Given the description of an element on the screen output the (x, y) to click on. 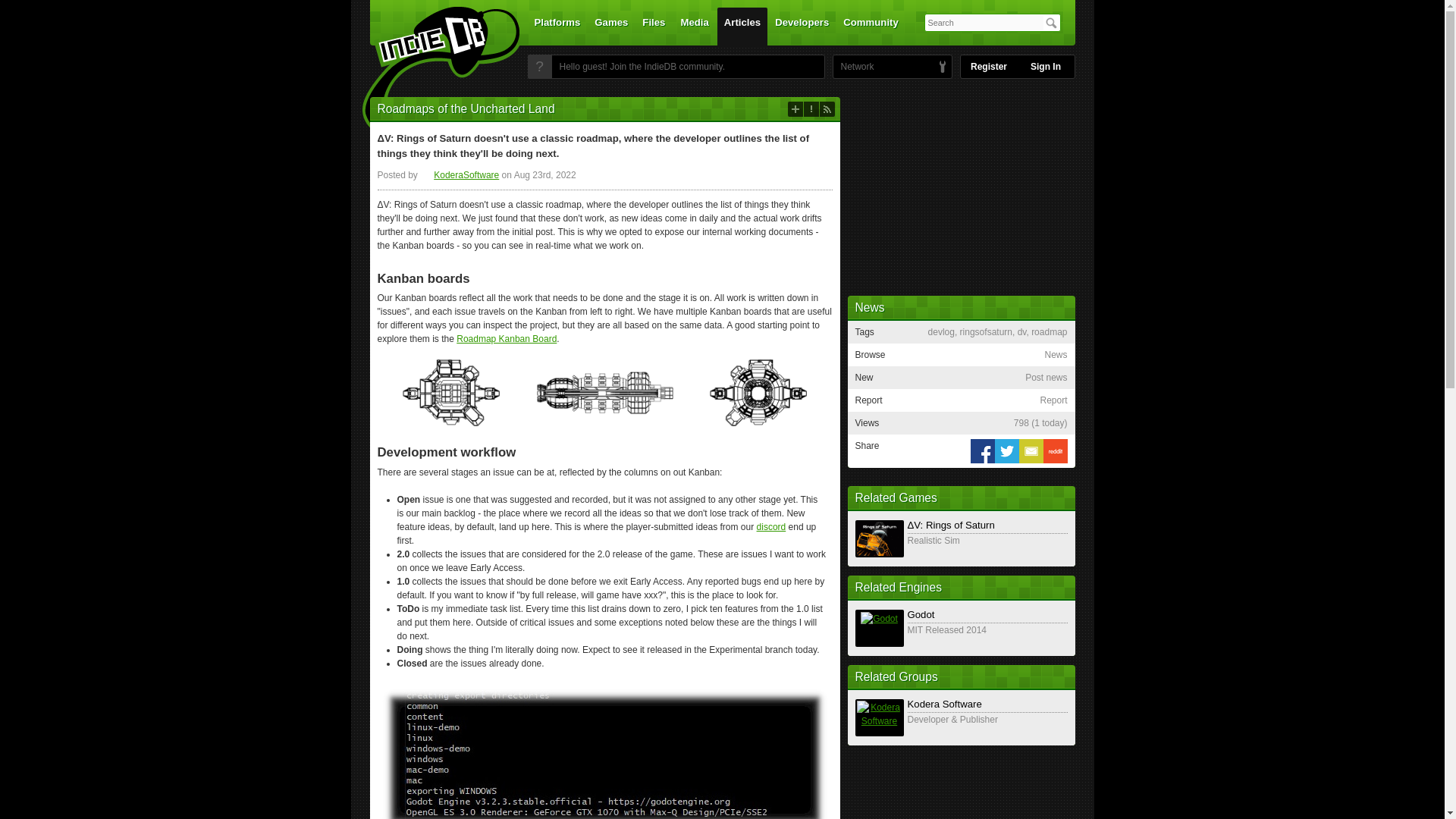
Home (430, 70)
Community (870, 26)
Files (652, 26)
Search IndieDB (1050, 22)
Article Manager (459, 174)
Articles (742, 26)
RSS (826, 109)
Games (611, 26)
DBolical (852, 66)
Developers (801, 26)
Report (810, 109)
Roadmaps of the Uncharted Land Statistics (1040, 422)
Platforms (557, 26)
Search (1050, 22)
Join IndieDB (539, 66)
